Given the description of an element on the screen output the (x, y) to click on. 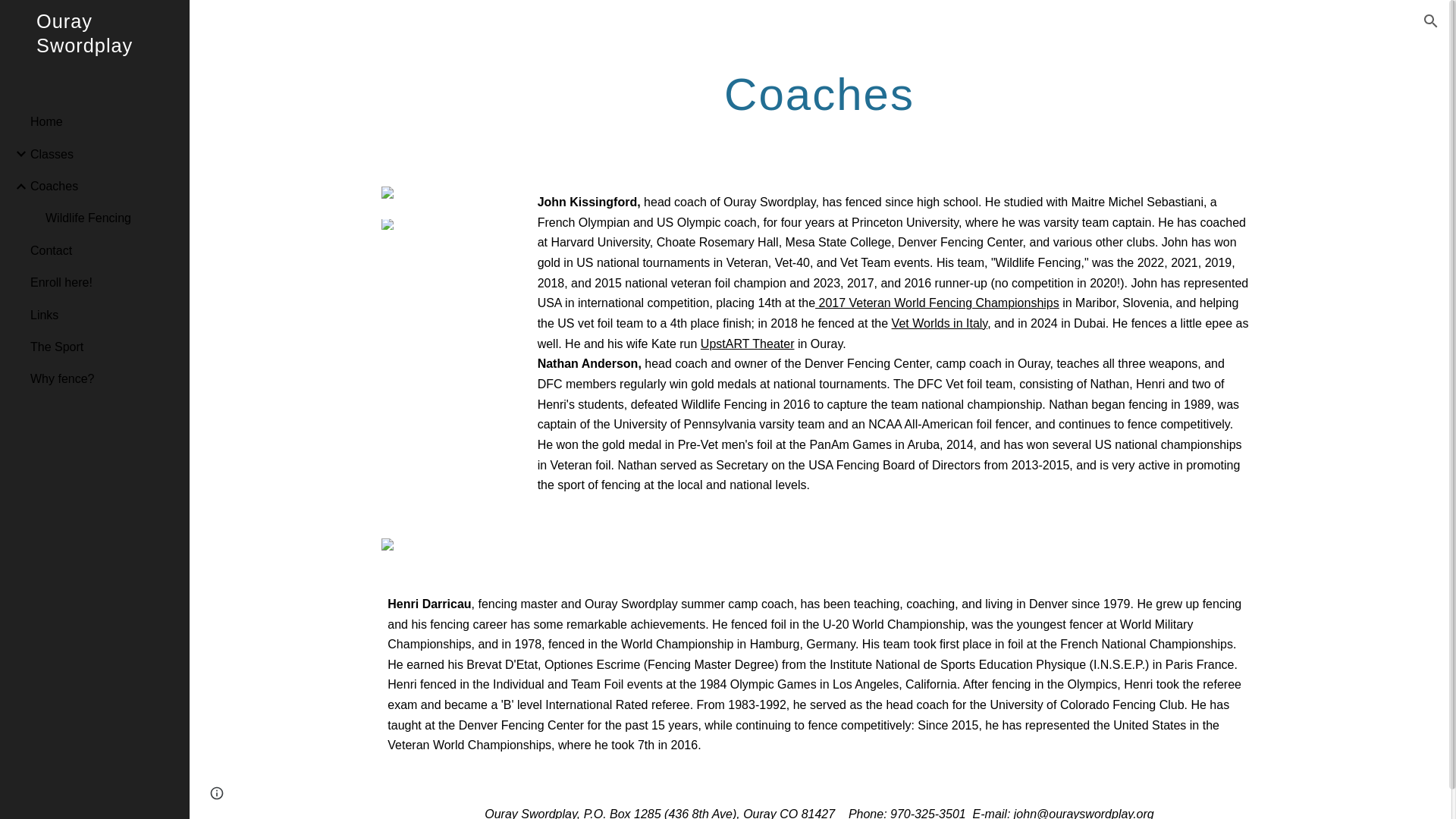
Home (103, 122)
Why fence? (103, 378)
Vet Worlds in Italy (939, 323)
Links (103, 314)
Coaches (103, 186)
Contact (103, 250)
Ouray Swordplay (94, 53)
UpstART Theater (747, 343)
Wildlife Fencing (111, 218)
2017 Veteran World Fencing Championships (937, 302)
Classes (103, 153)
Enroll here! (103, 282)
The Sport (103, 346)
